Given the description of an element on the screen output the (x, y) to click on. 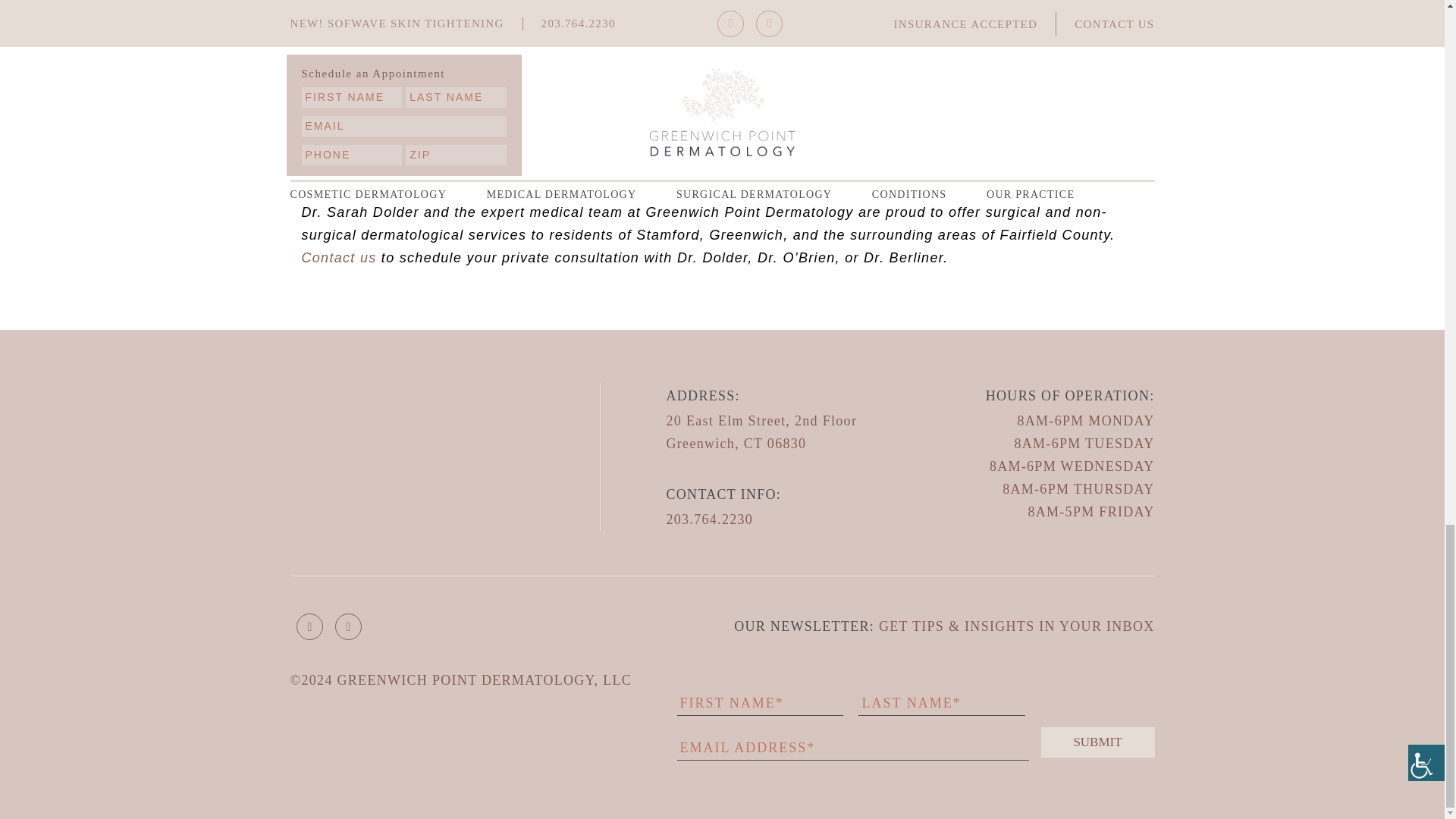
Submit (1097, 742)
